Given the description of an element on the screen output the (x, y) to click on. 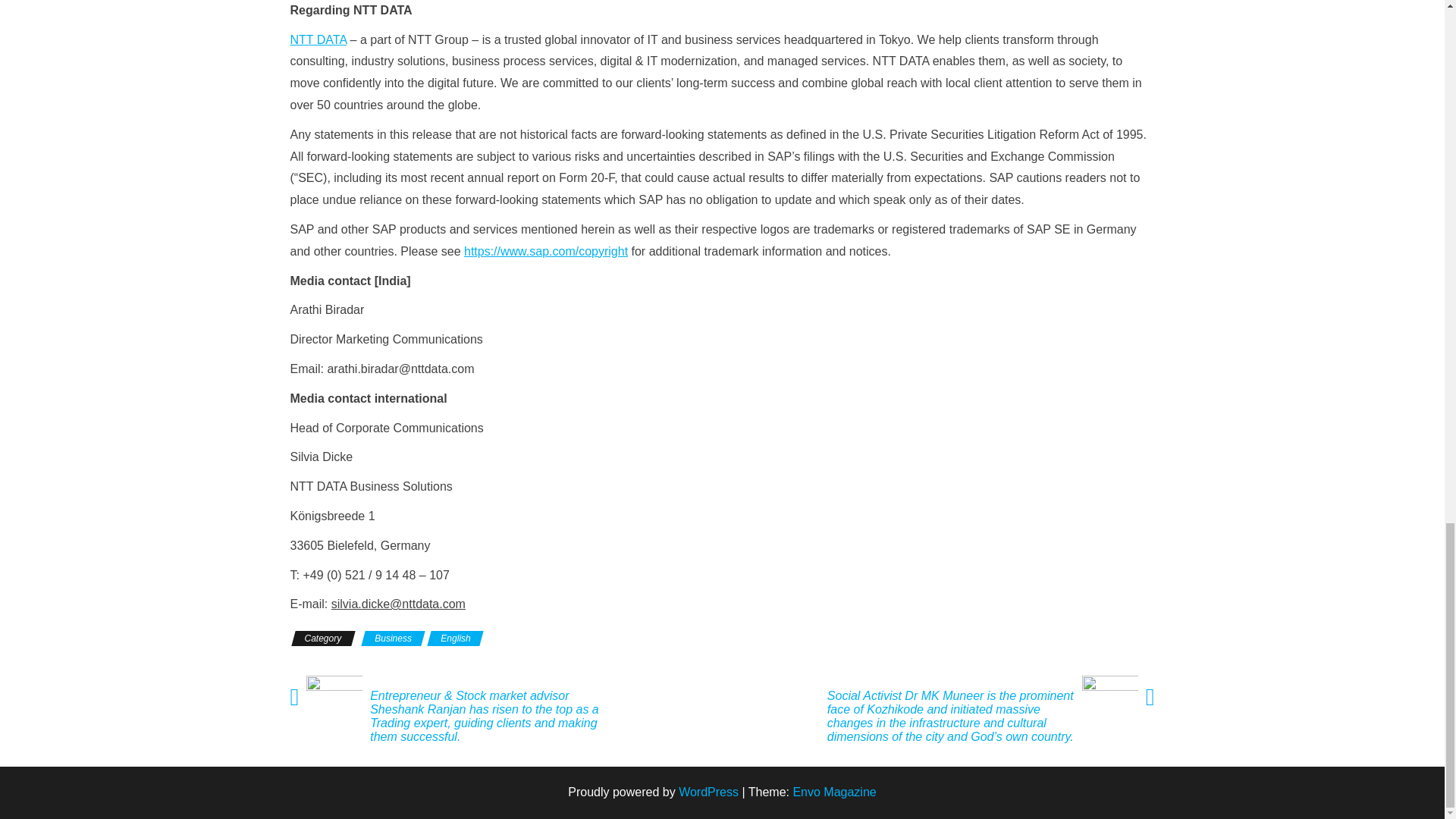
English (455, 638)
Envo Magazine (834, 791)
WordPress (708, 791)
Business (392, 638)
NTT DATA (317, 39)
